Given the description of an element on the screen output the (x, y) to click on. 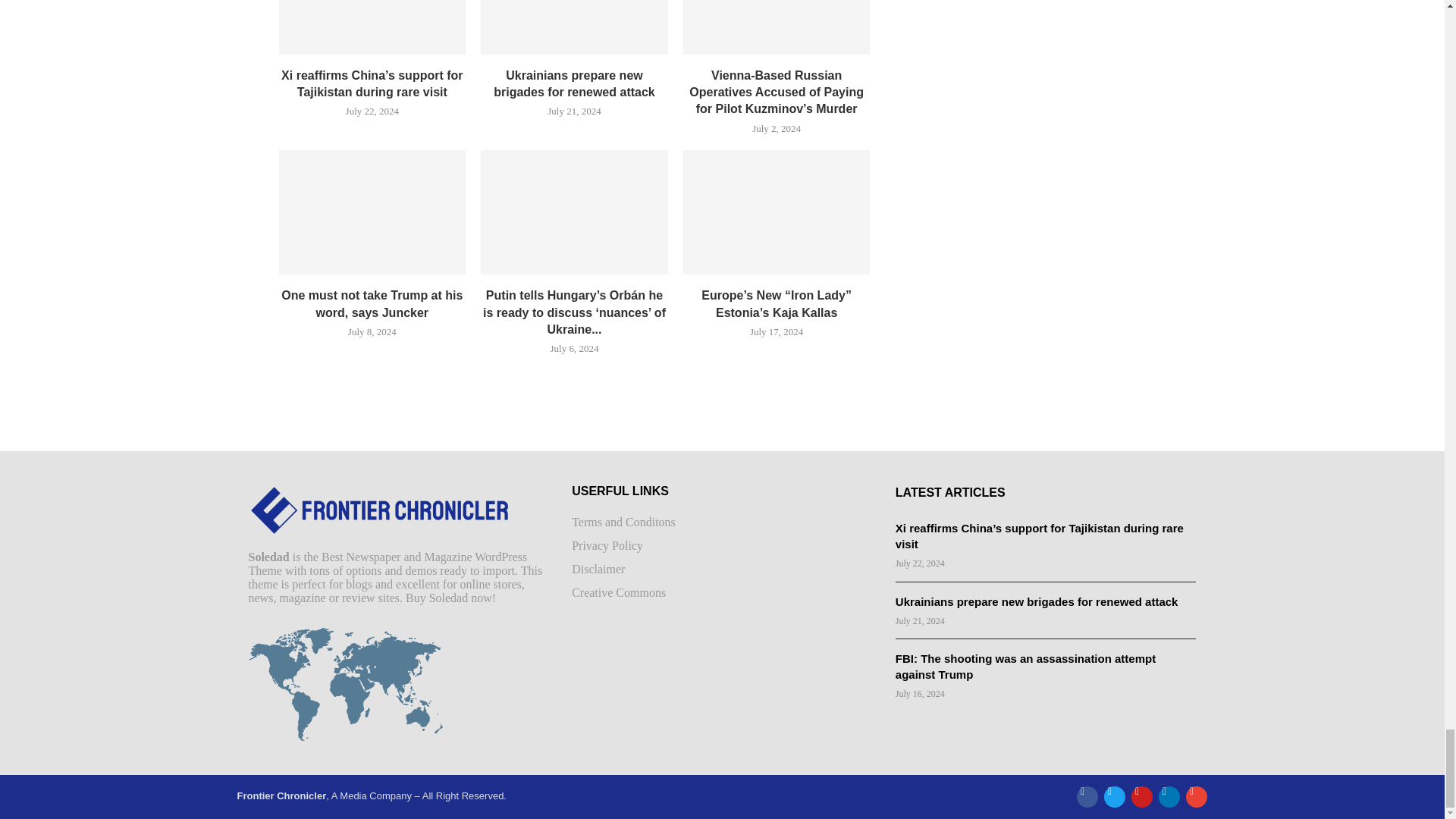
Ukrainians prepare new brigades for renewed attack (574, 27)
One must not take Trump at his word, says Juncker (372, 211)
